Given the description of an element on the screen output the (x, y) to click on. 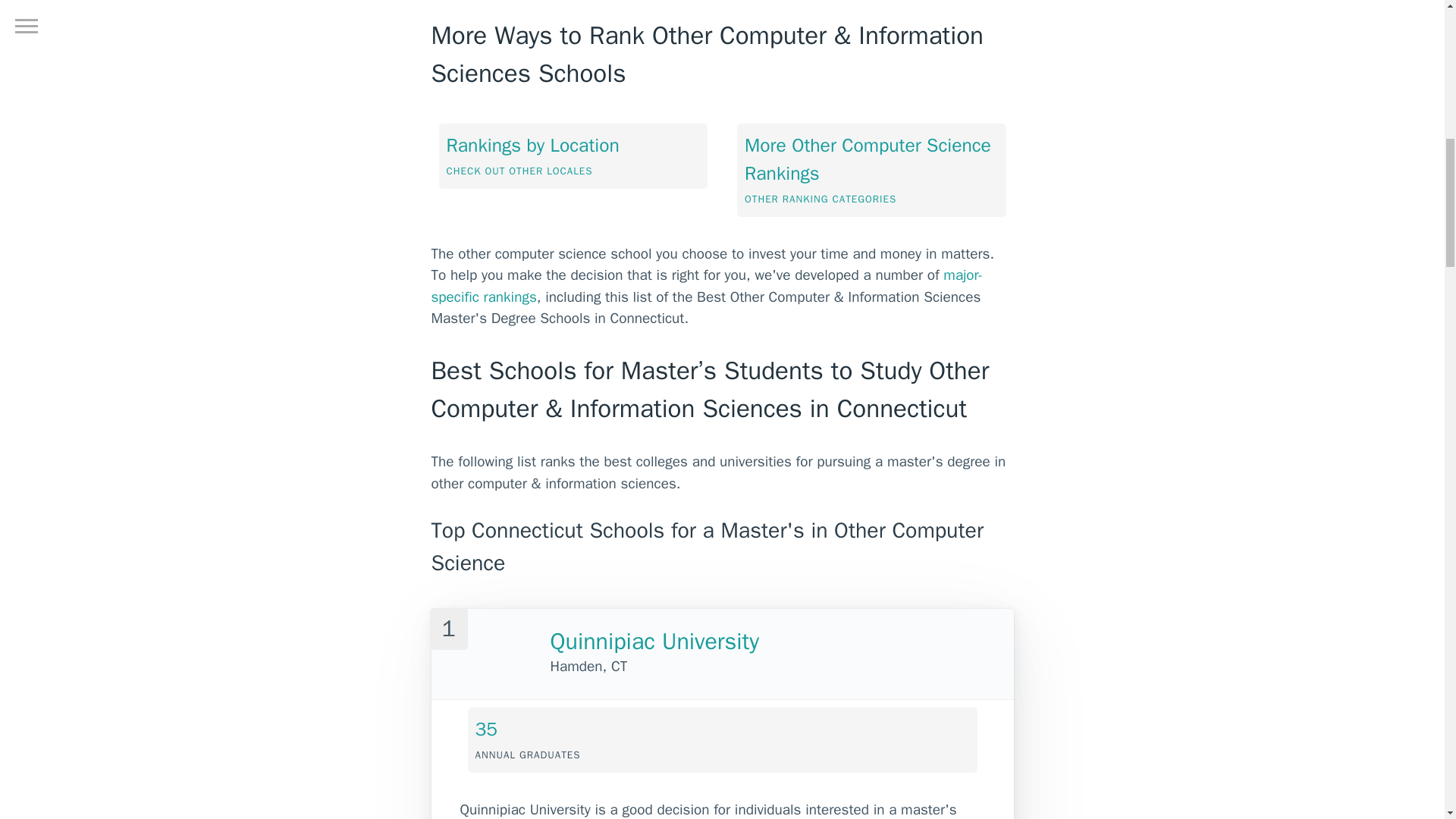
major-specific rankings (706, 286)
Quinnipiac University (655, 641)
